Given the description of an element on the screen output the (x, y) to click on. 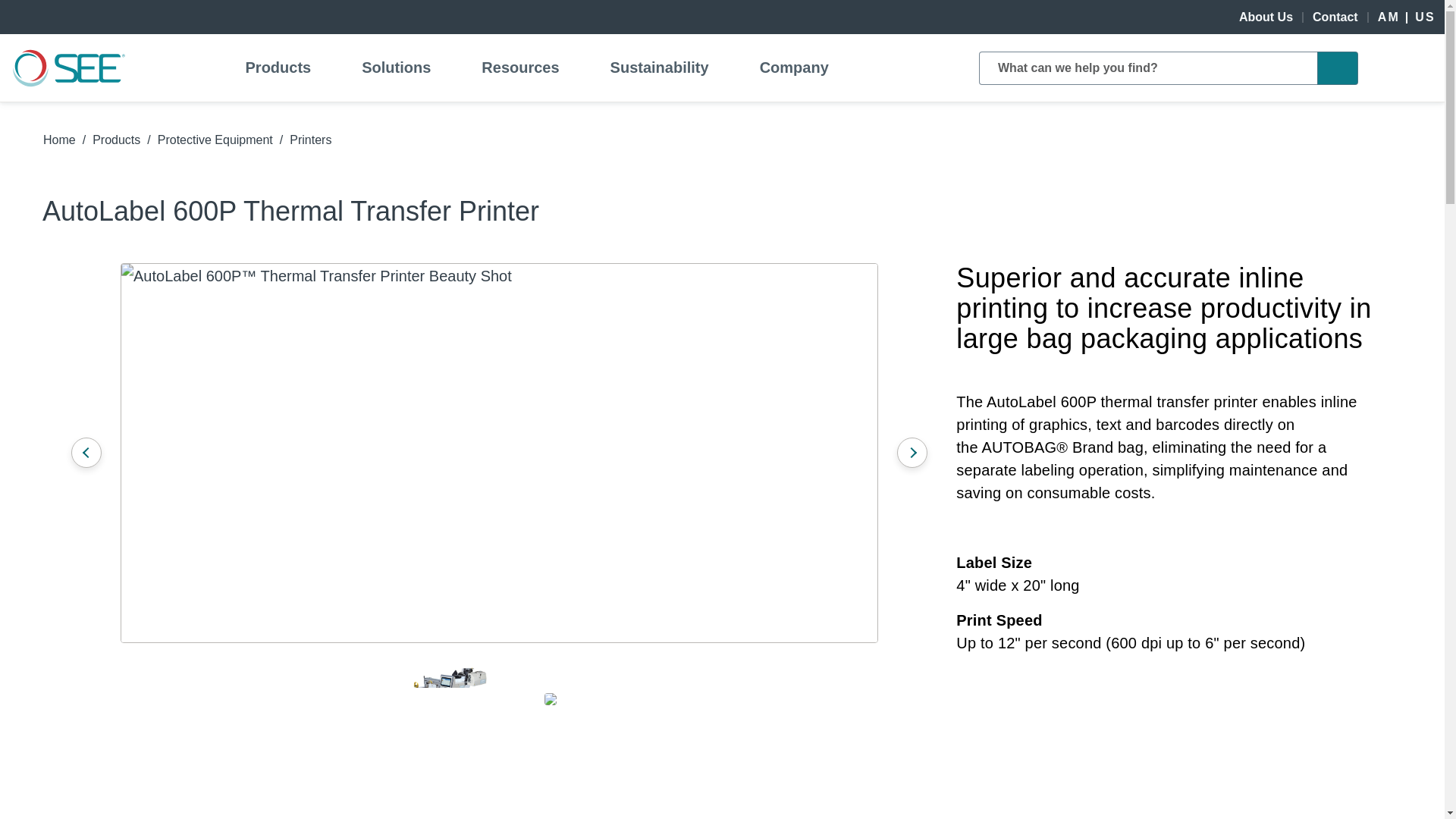
Company (793, 67)
Sustainability (659, 67)
Products (277, 67)
Resources (521, 67)
About Us (1266, 17)
Contact (1335, 17)
Solutions (396, 67)
